Given the description of an element on the screen output the (x, y) to click on. 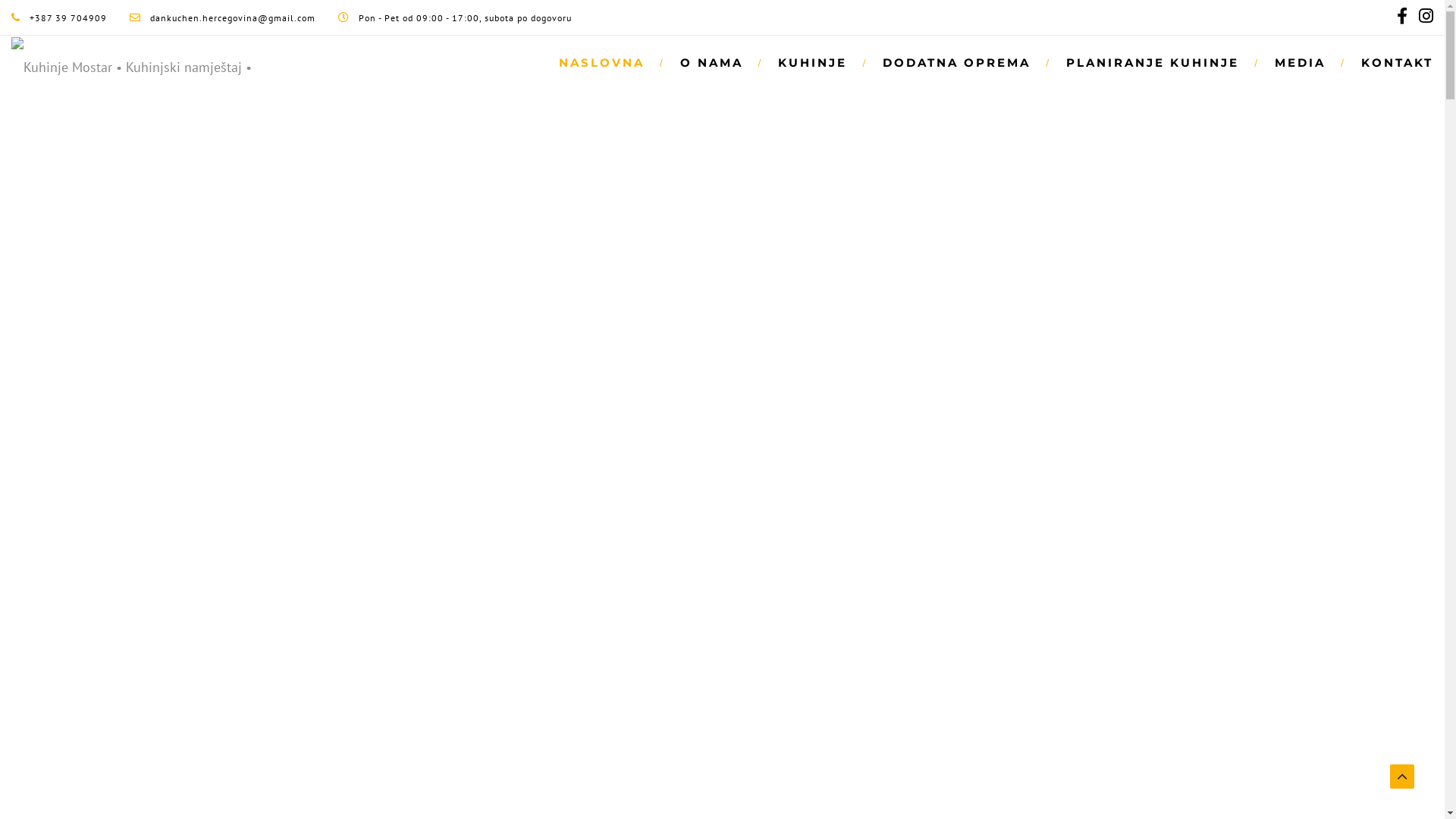
MEDIA Element type: text (1302, 61)
O NAMA Element type: text (714, 61)
KUHINJE Element type: text (814, 61)
NASLOVNA Element type: text (604, 61)
KONTAKT Element type: text (1389, 61)
PLANIRANJE KUHINJE Element type: text (1155, 61)
DODATNA OPREMA Element type: text (959, 61)
